Given the description of an element on the screen output the (x, y) to click on. 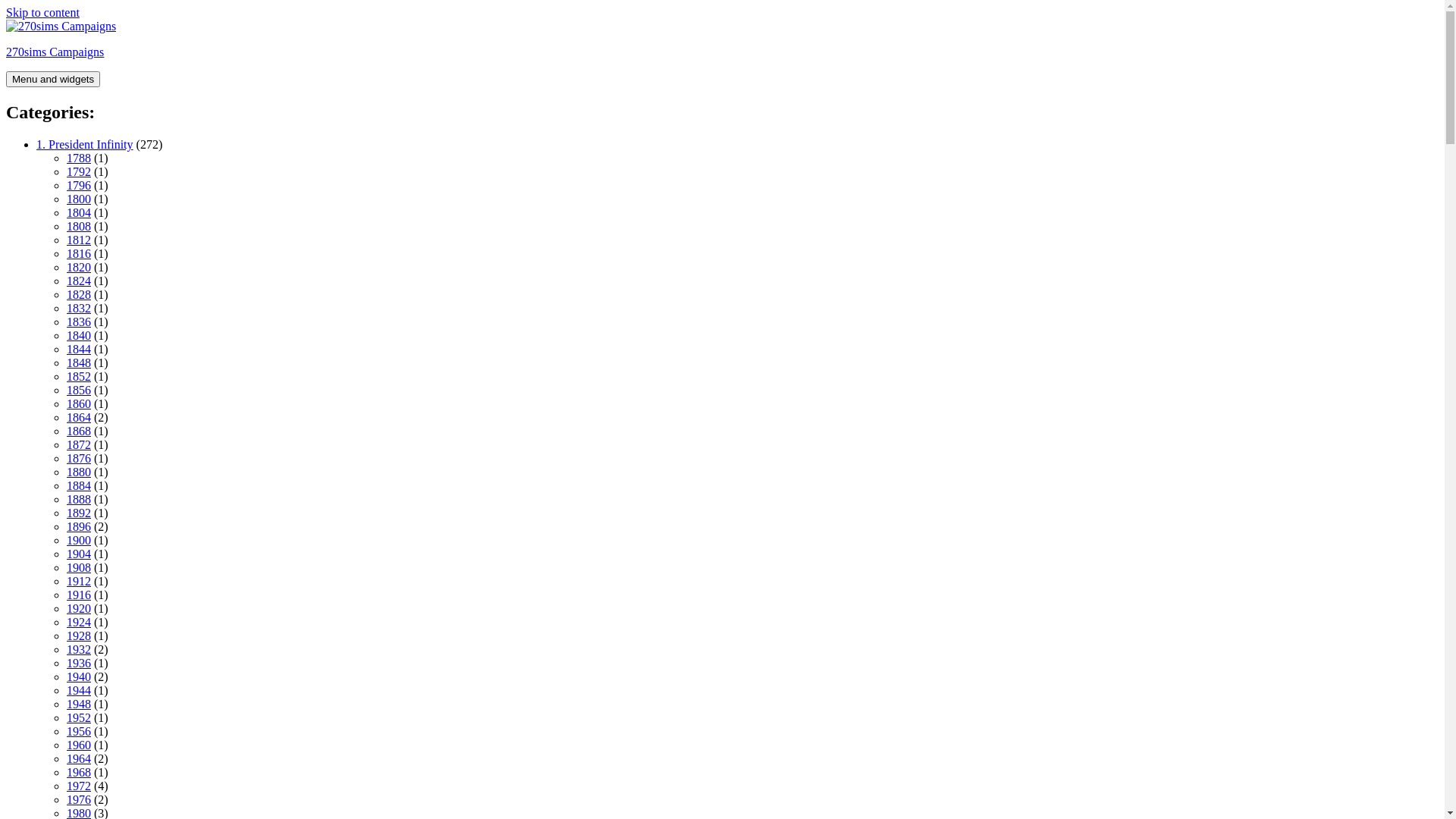
1976 Element type: text (78, 799)
1824 Element type: text (78, 280)
1848 Element type: text (78, 362)
1932 Element type: text (78, 649)
1812 Element type: text (78, 239)
1852 Element type: text (78, 376)
1868 Element type: text (78, 430)
1796 Element type: text (78, 184)
1876 Element type: text (78, 457)
1872 Element type: text (78, 444)
1948 Element type: text (78, 703)
1964 Element type: text (78, 758)
Skip to content Element type: text (42, 12)
1836 Element type: text (78, 321)
1968 Element type: text (78, 771)
1908 Element type: text (78, 567)
1972 Element type: text (78, 785)
1880 Element type: text (78, 471)
1884 Element type: text (78, 485)
1888 Element type: text (78, 498)
1916 Element type: text (78, 594)
1928 Element type: text (78, 635)
1860 Element type: text (78, 403)
1892 Element type: text (78, 512)
1864 Element type: text (78, 417)
1792 Element type: text (78, 171)
Menu and widgets Element type: text (53, 79)
1. President Infinity Element type: text (84, 144)
1804 Element type: text (78, 212)
1940 Element type: text (78, 676)
1800 Element type: text (78, 198)
1956 Element type: text (78, 730)
1808 Element type: text (78, 225)
1832 Element type: text (78, 307)
1936 Element type: text (78, 662)
1944 Element type: text (78, 690)
1856 Element type: text (78, 389)
1912 Element type: text (78, 580)
1960 Element type: text (78, 744)
1840 Element type: text (78, 335)
1900 Element type: text (78, 539)
1816 Element type: text (78, 253)
1896 Element type: text (78, 526)
270sims Campaigns Element type: text (54, 51)
1844 Element type: text (78, 348)
1788 Element type: text (78, 157)
1952 Element type: text (78, 717)
1904 Element type: text (78, 553)
1820 Element type: text (78, 266)
1828 Element type: text (78, 294)
1924 Element type: text (78, 621)
1920 Element type: text (78, 608)
